Given the description of an element on the screen output the (x, y) to click on. 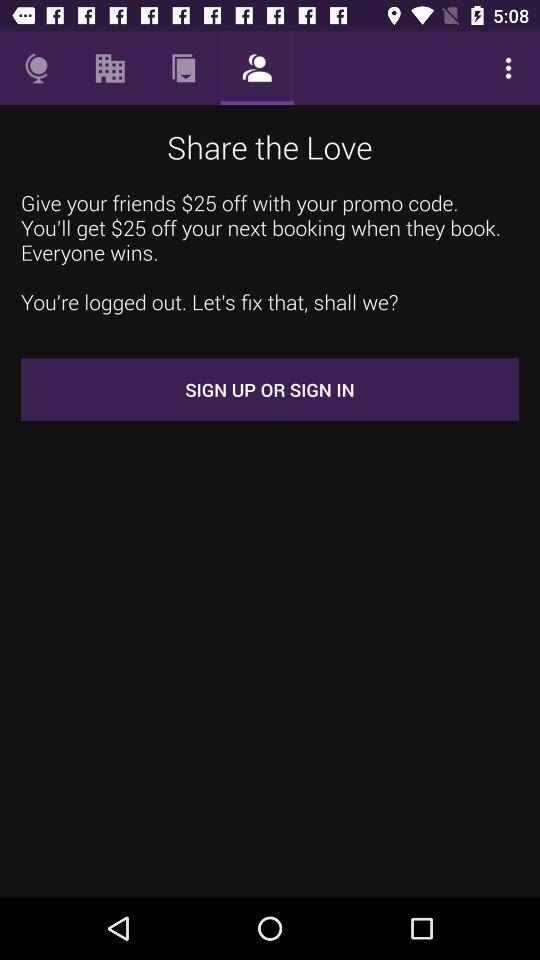
turn on icon at the top right corner (508, 67)
